Given the description of an element on the screen output the (x, y) to click on. 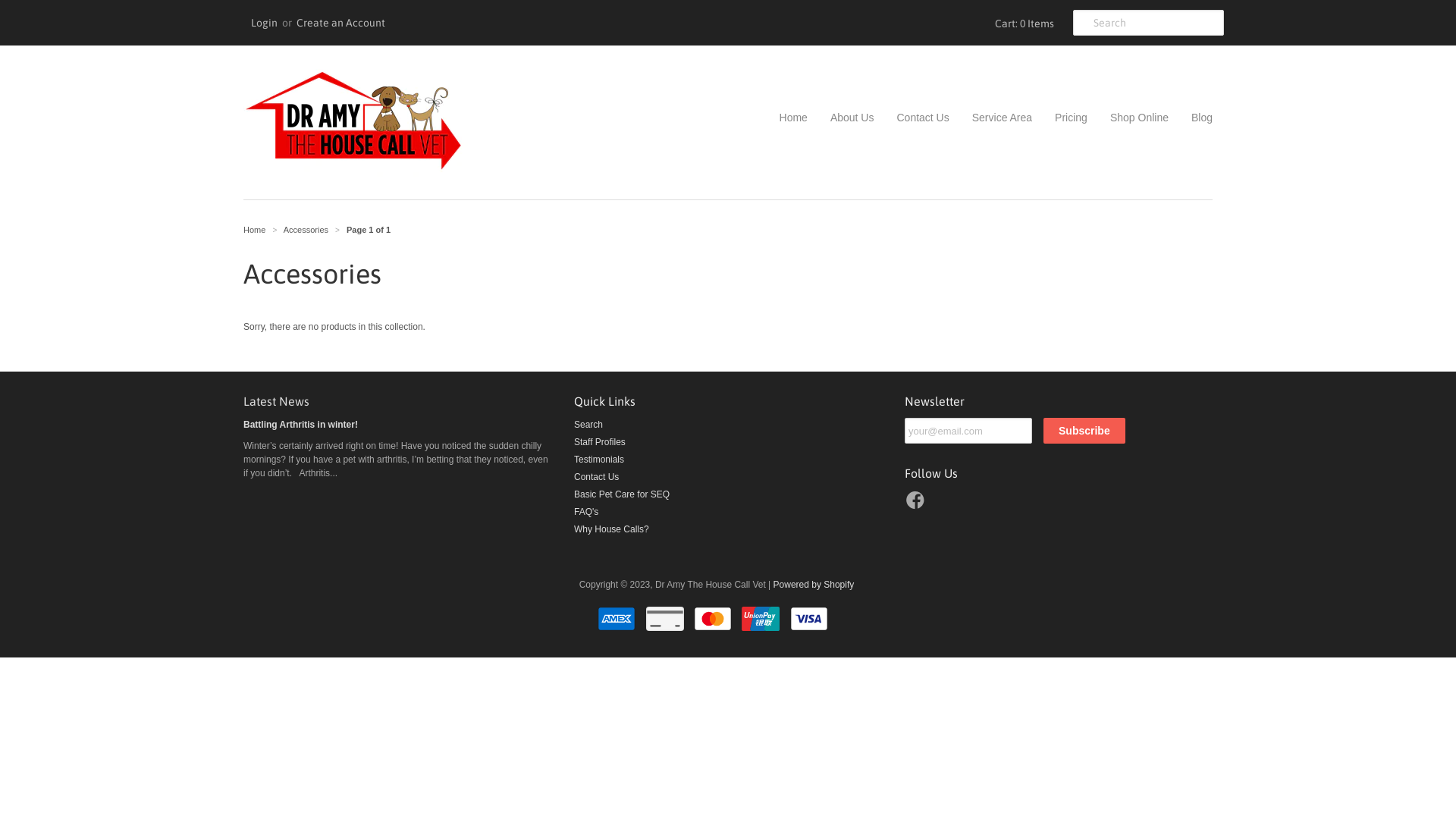
Search Element type: text (588, 424)
Service Area Element type: text (990, 117)
Pricing Element type: text (1059, 117)
Follow us on Facebook! Element type: hover (917, 504)
Accessories Element type: text (305, 229)
FAQ's Element type: text (586, 511)
Staff Profiles Element type: text (599, 441)
Shop Online Element type: text (1127, 117)
Powered by Shopify Element type: text (813, 584)
Why House Calls? Element type: text (611, 529)
About Us Element type: text (840, 117)
Cart: 0 Items Element type: text (1022, 23)
Login Element type: text (264, 22)
Blog Element type: text (1190, 117)
Subscribe Element type: text (1084, 430)
Home Element type: text (254, 229)
Latest News Element type: text (276, 400)
Battling Arthritis in winter! Element type: text (300, 424)
Home Element type: text (793, 117)
Testimonials Element type: text (599, 459)
Basic Pet Care for SEQ Element type: text (621, 494)
Contact Us Element type: text (596, 476)
Contact Us Element type: text (910, 117)
Create an Account Element type: text (340, 22)
